Given the description of an element on the screen output the (x, y) to click on. 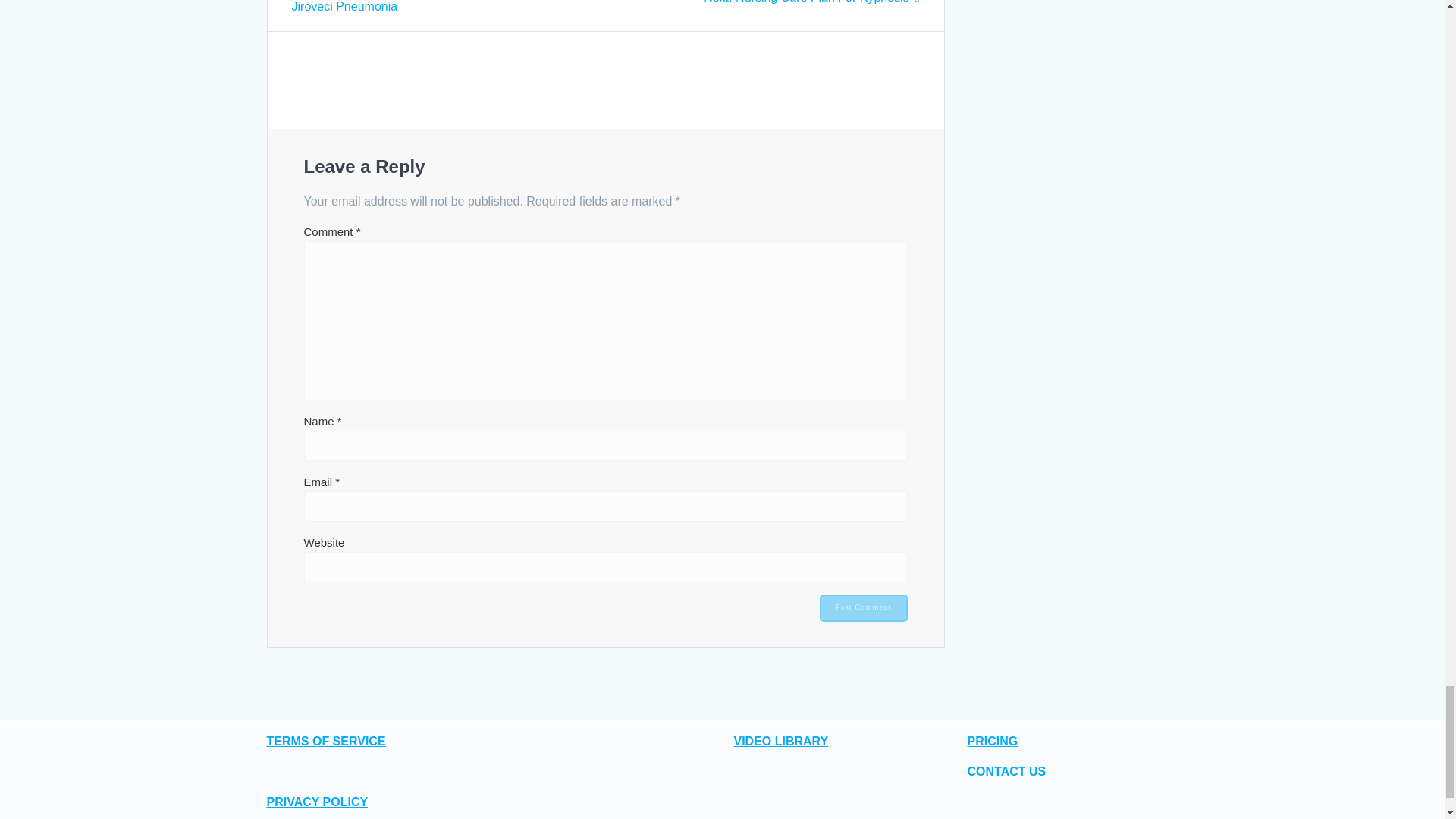
Post Comment (863, 607)
PRICING (810, 2)
TERMS OF SERVICE (992, 740)
PRIVACY POLICY (325, 740)
CONTACT US (317, 801)
Post Comment (1007, 771)
VIDEO LIBRARY (863, 607)
